Given the description of an element on the screen output the (x, y) to click on. 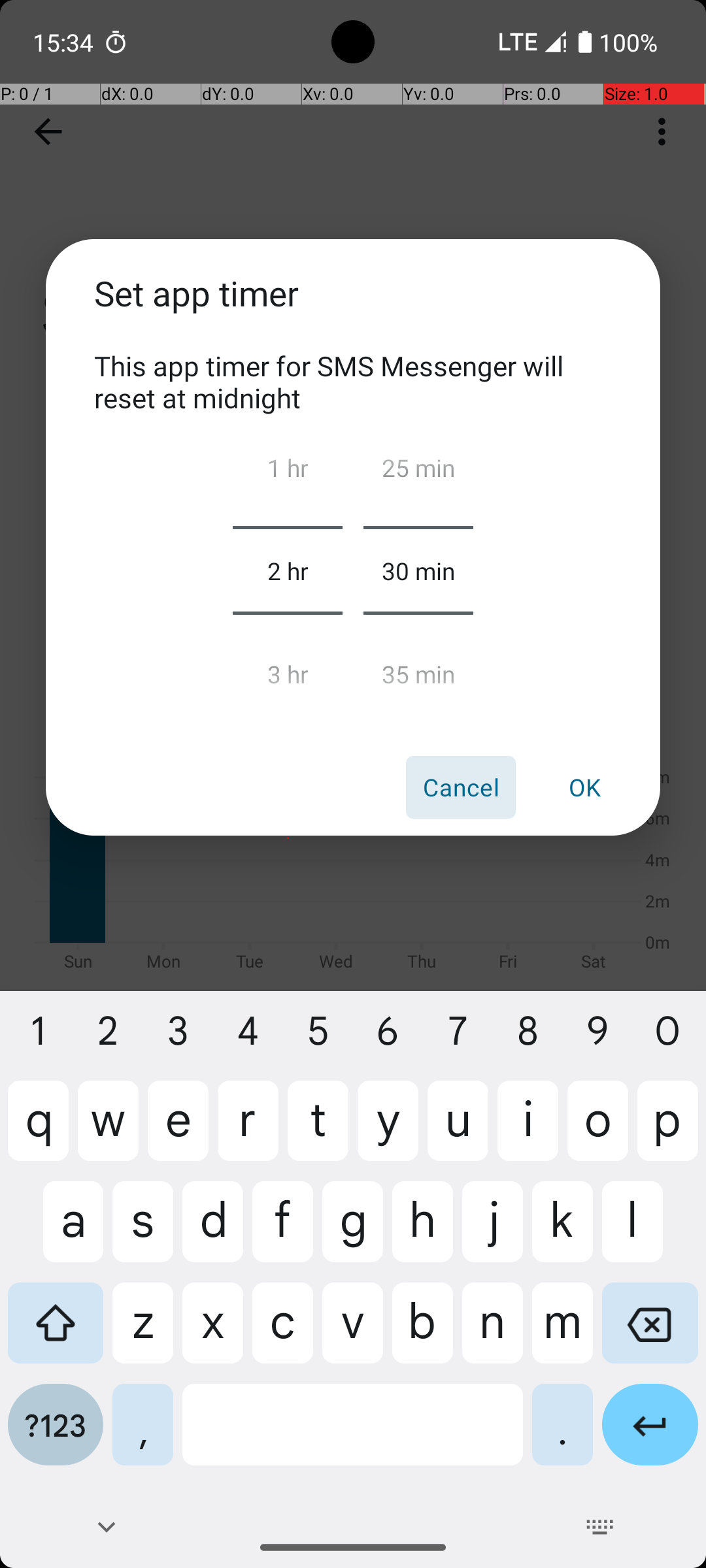
Set app timer Element type: android.widget.TextView (352, 307)
This app timer for SMS Messenger will reset at midnight Element type: android.widget.TextView (352, 381)
1 hr Element type: android.widget.Button (287, 472)
2 hr Element type: android.widget.EditText (287, 570)
3 hr Element type: android.widget.Button (287, 668)
25 min Element type: android.widget.Button (418, 472)
30 min Element type: android.widget.EditText (418, 570)
35 min Element type: android.widget.Button (418, 668)
